Given the description of an element on the screen output the (x, y) to click on. 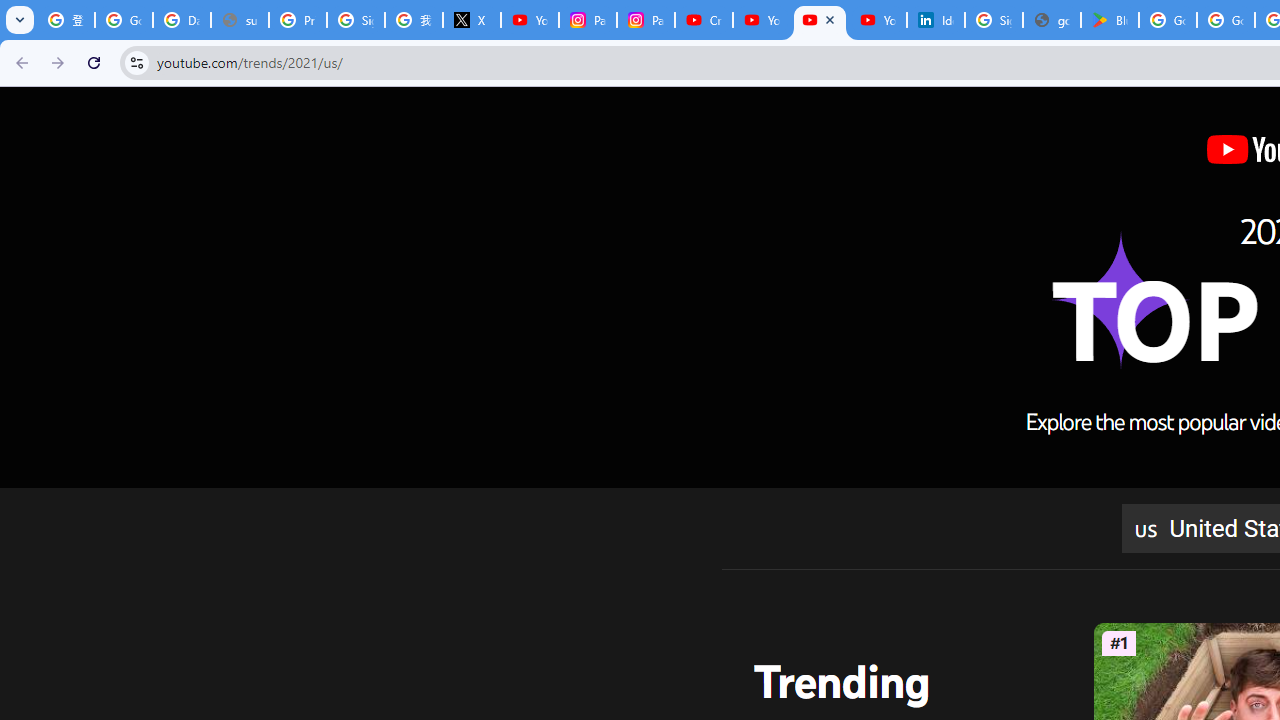
Privacy Help Center - Policies Help (297, 20)
X (471, 20)
Sign in - Google Accounts (993, 20)
YouTube Content Monetization Policies - How YouTube Works (529, 20)
google_privacy_policy_en.pdf (1051, 20)
